Given the description of an element on the screen output the (x, y) to click on. 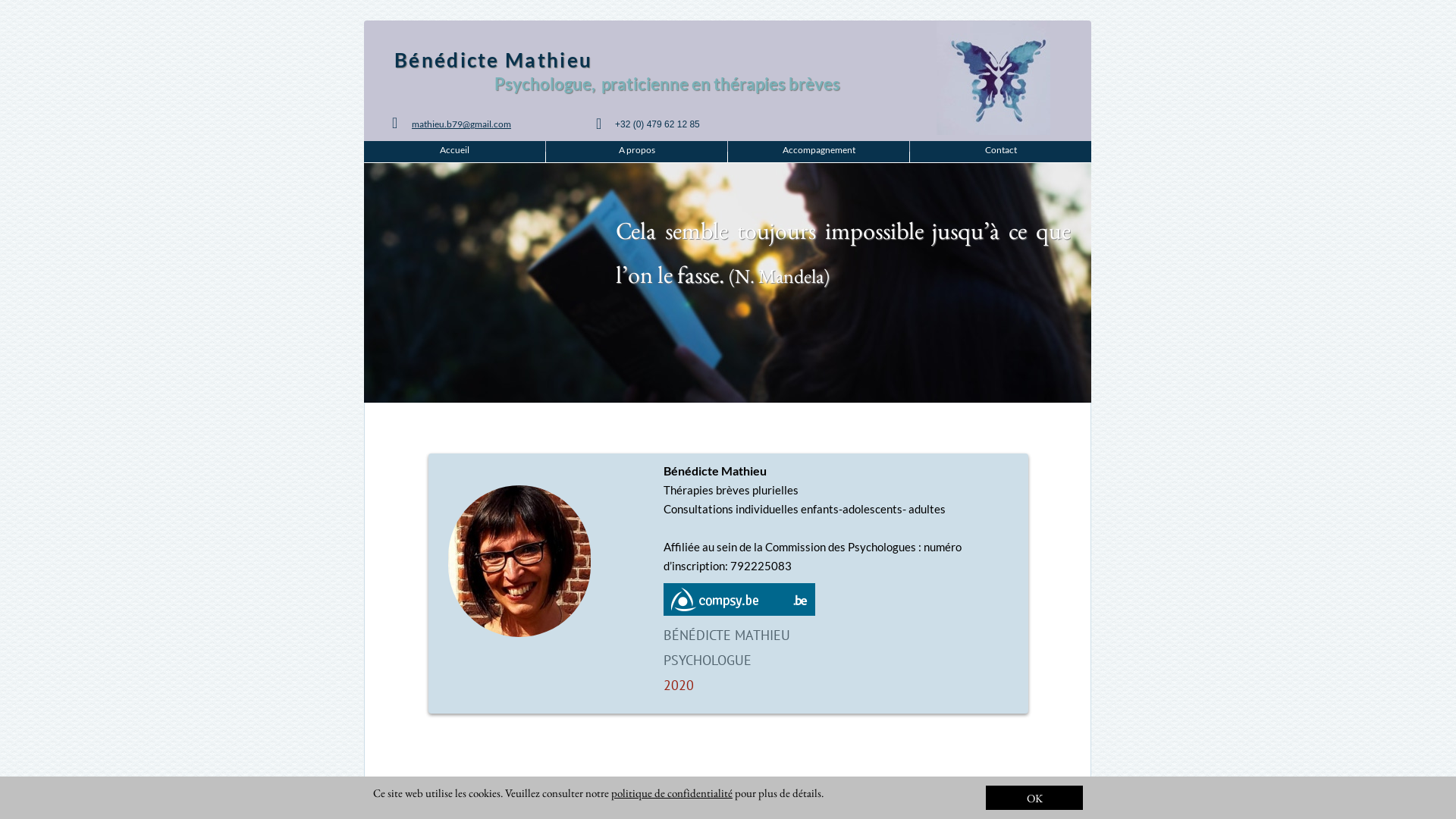
OK Element type: text (1033, 797)
mathieu.b79@gmail.com Element type: text (461, 123)
2020 Element type: text (678, 684)
PSYCHOLOGUE Element type: text (707, 659)
